Given the description of an element on the screen output the (x, y) to click on. 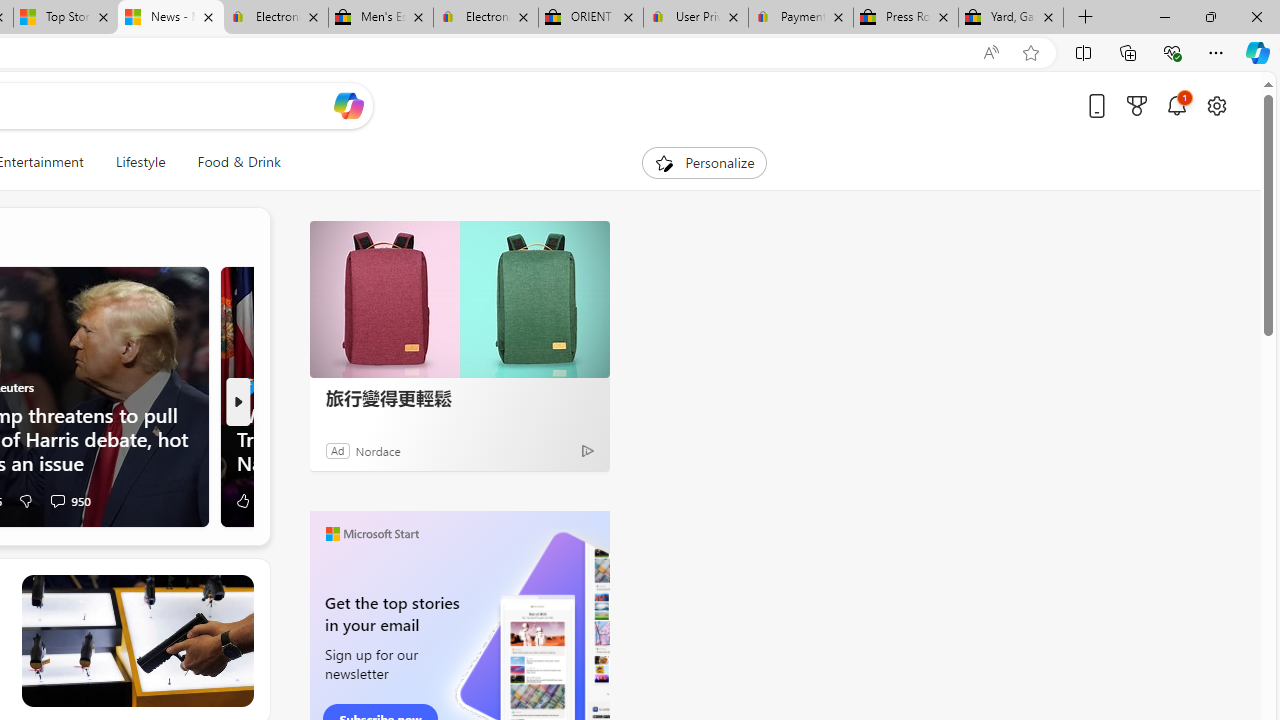
Open Copilot (347, 105)
Food & Drink (230, 162)
News - MSN (170, 17)
Dislike (25, 500)
View comments 950 Comment (69, 500)
Microsoft rewards (1137, 105)
User Privacy Notice | eBay (695, 17)
